Given the description of an element on the screen output the (x, y) to click on. 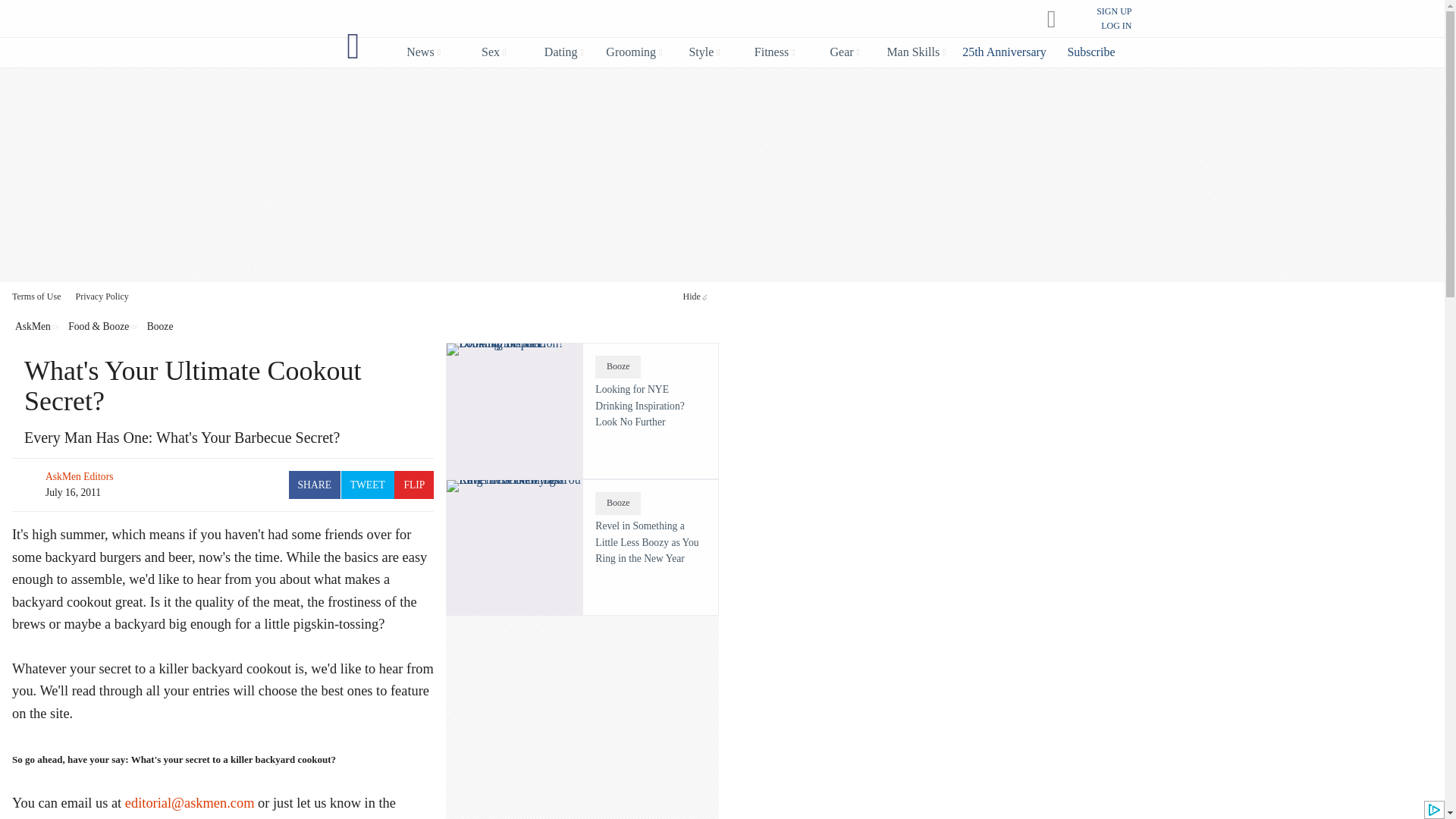
LOG IN (1115, 25)
AskMen (706, 20)
SIGN UP (1113, 11)
GuyQ (352, 45)
